Given the description of an element on the screen output the (x, y) to click on. 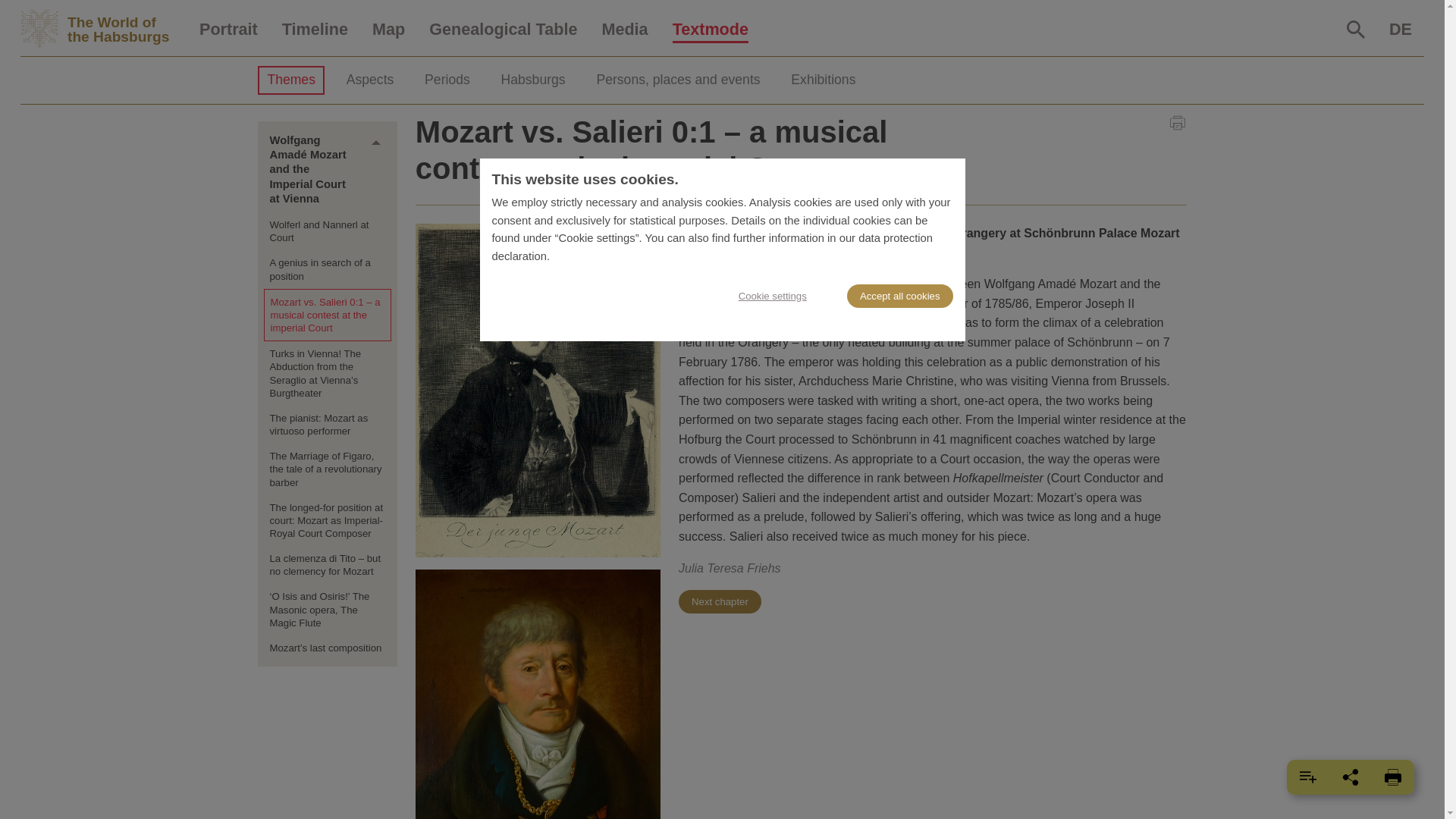
Timeline (314, 29)
Textmode (710, 29)
Map (387, 29)
Die Welt der Habsburger Home (103, 29)
Genealogical Table (502, 29)
search (1355, 29)
Portrait (103, 29)
DE (228, 29)
search (1400, 29)
